Given the description of an element on the screen output the (x, y) to click on. 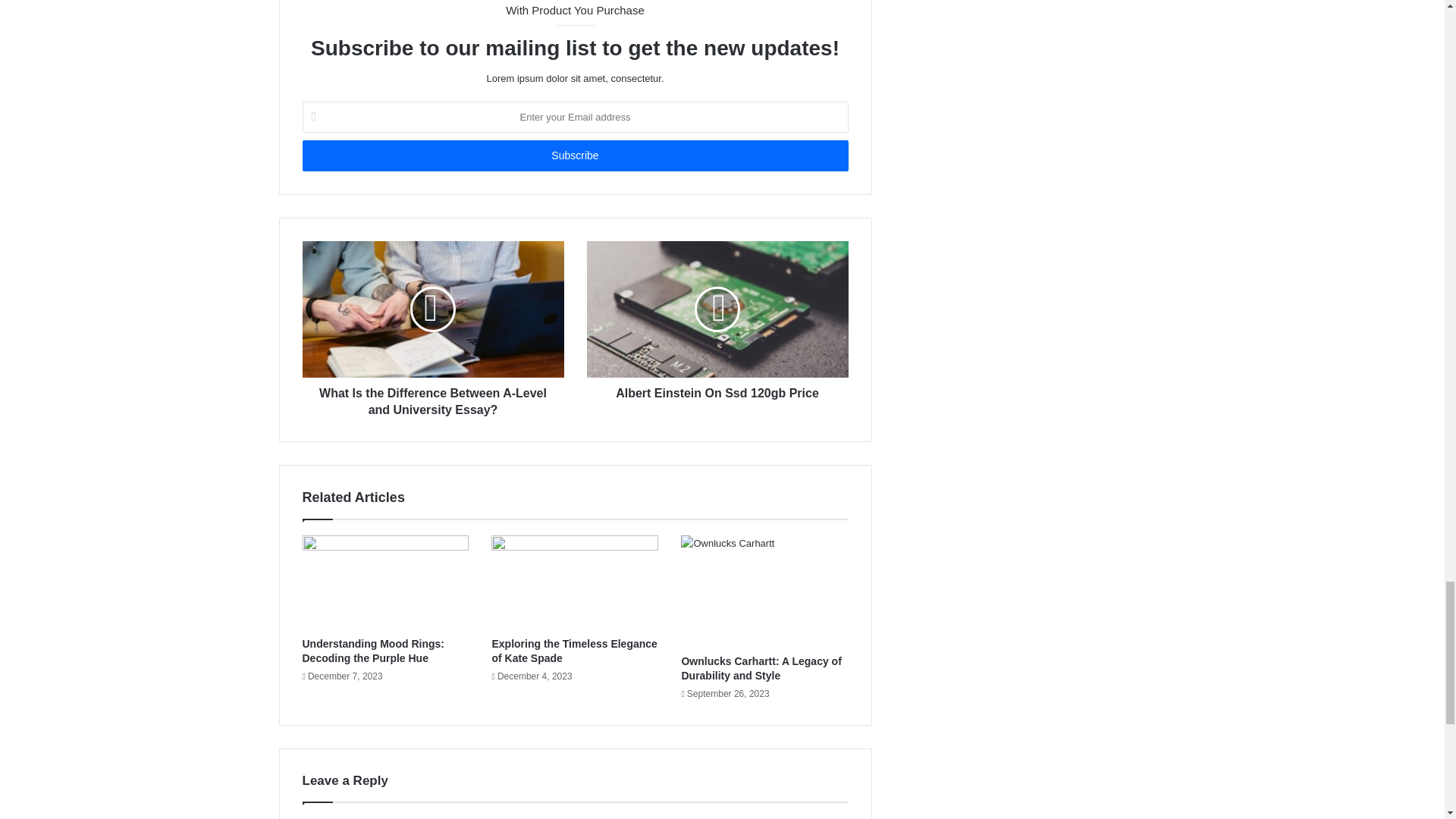
Subscribe (574, 155)
